Given the description of an element on the screen output the (x, y) to click on. 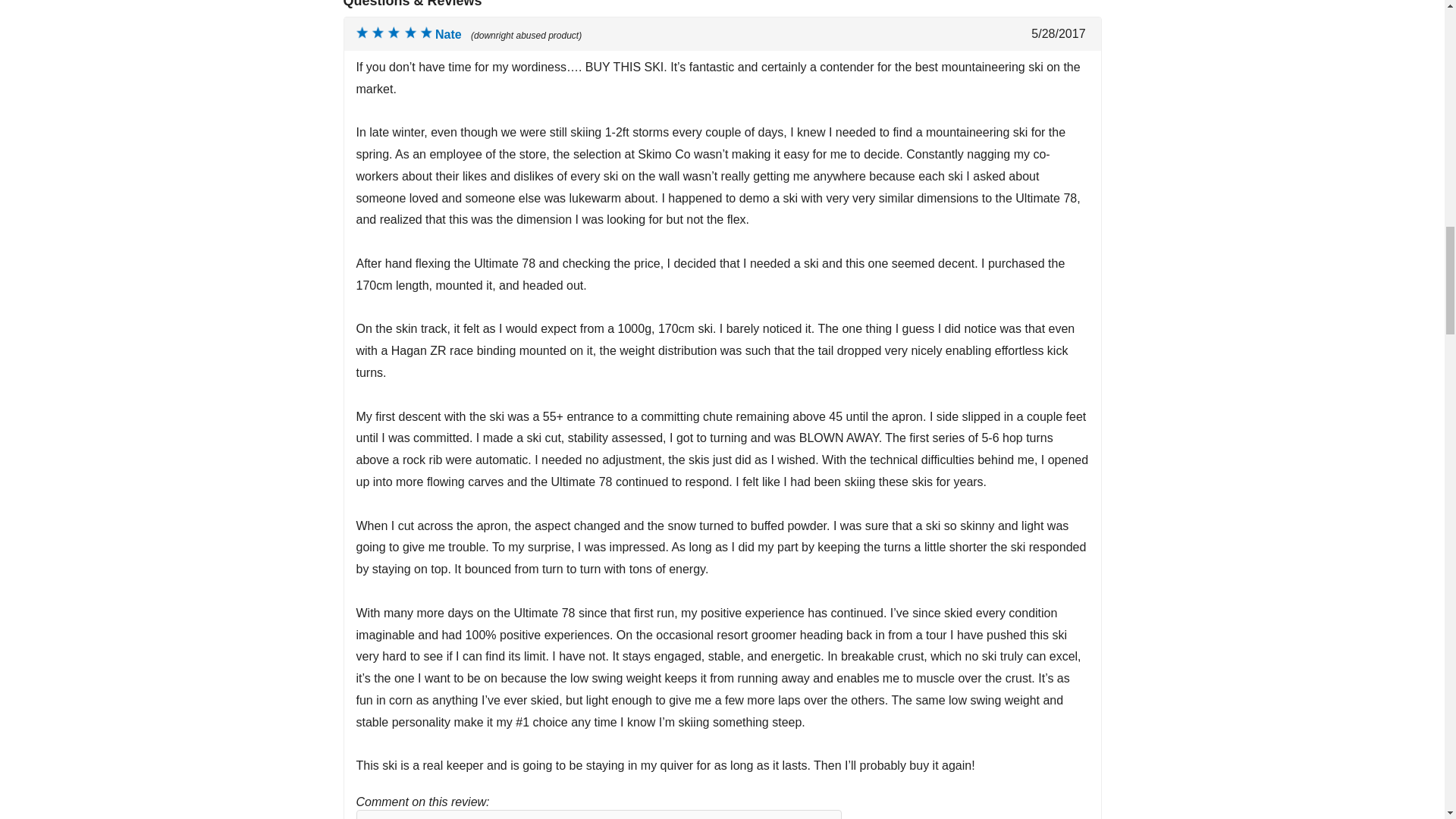
downright abused product (394, 32)
